Given the description of an element on the screen output the (x, y) to click on. 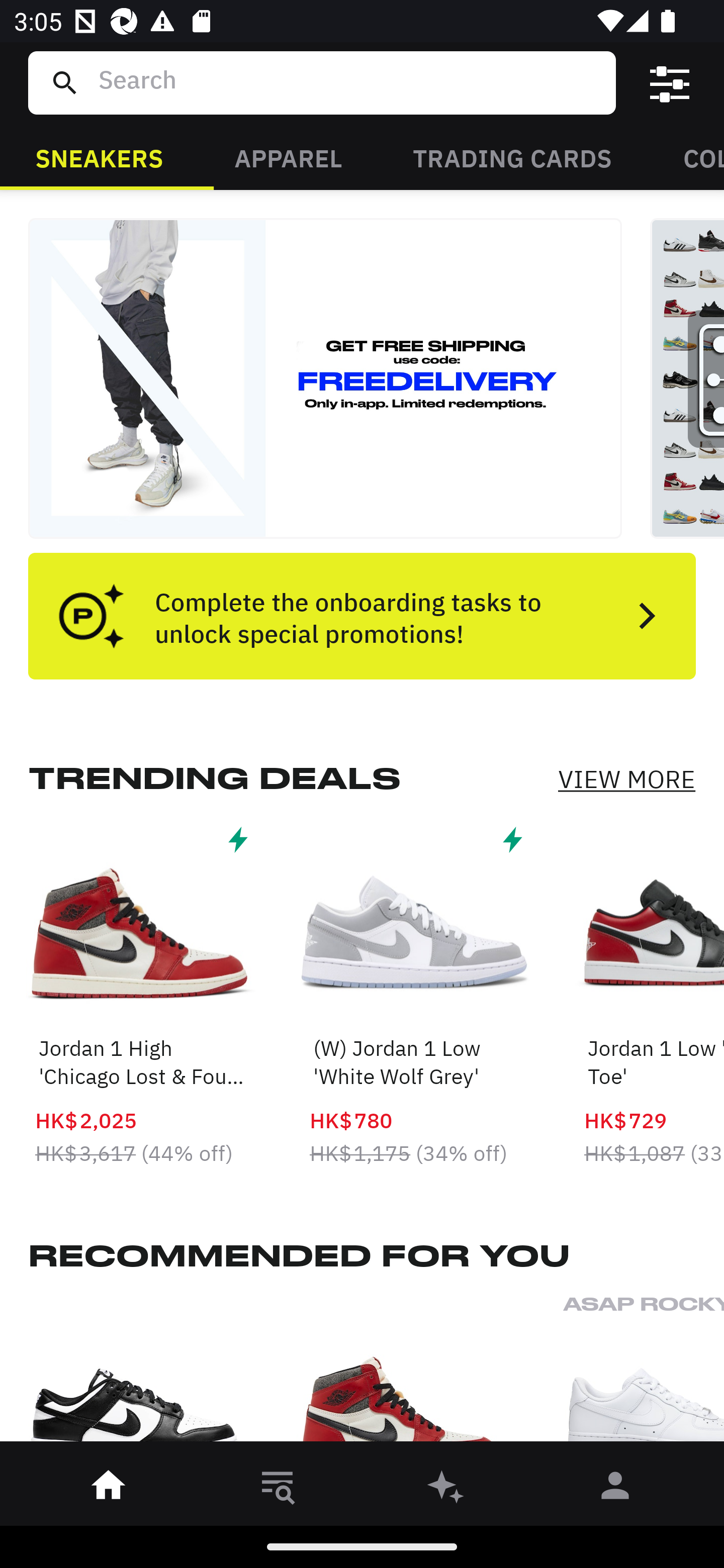
Search (349, 82)
 (669, 82)
SNEAKERS (99, 156)
APPAREL (287, 156)
TRADING CARDS (512, 156)
VIEW MORE (626, 779)
ASAP ROCKY (643, 1373)
󰋜 (108, 1488)
󱎸 (277, 1488)
󰫢 (446, 1488)
󰀄 (615, 1488)
